Given the description of an element on the screen output the (x, y) to click on. 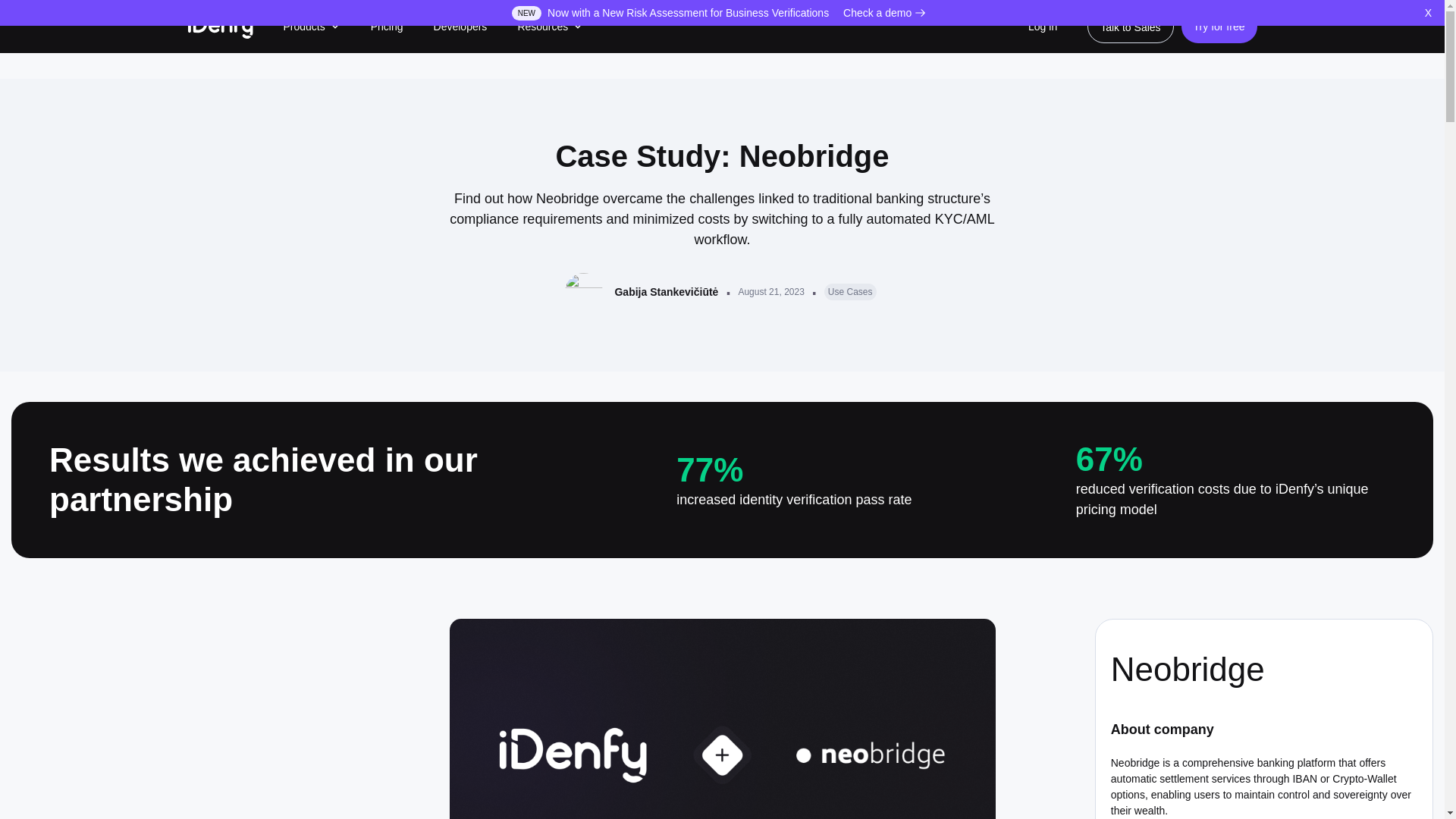
Developers (460, 26)
Products (311, 26)
Pricing (387, 26)
Check a demo (884, 13)
Resources (549, 26)
